Given the description of an element on the screen output the (x, y) to click on. 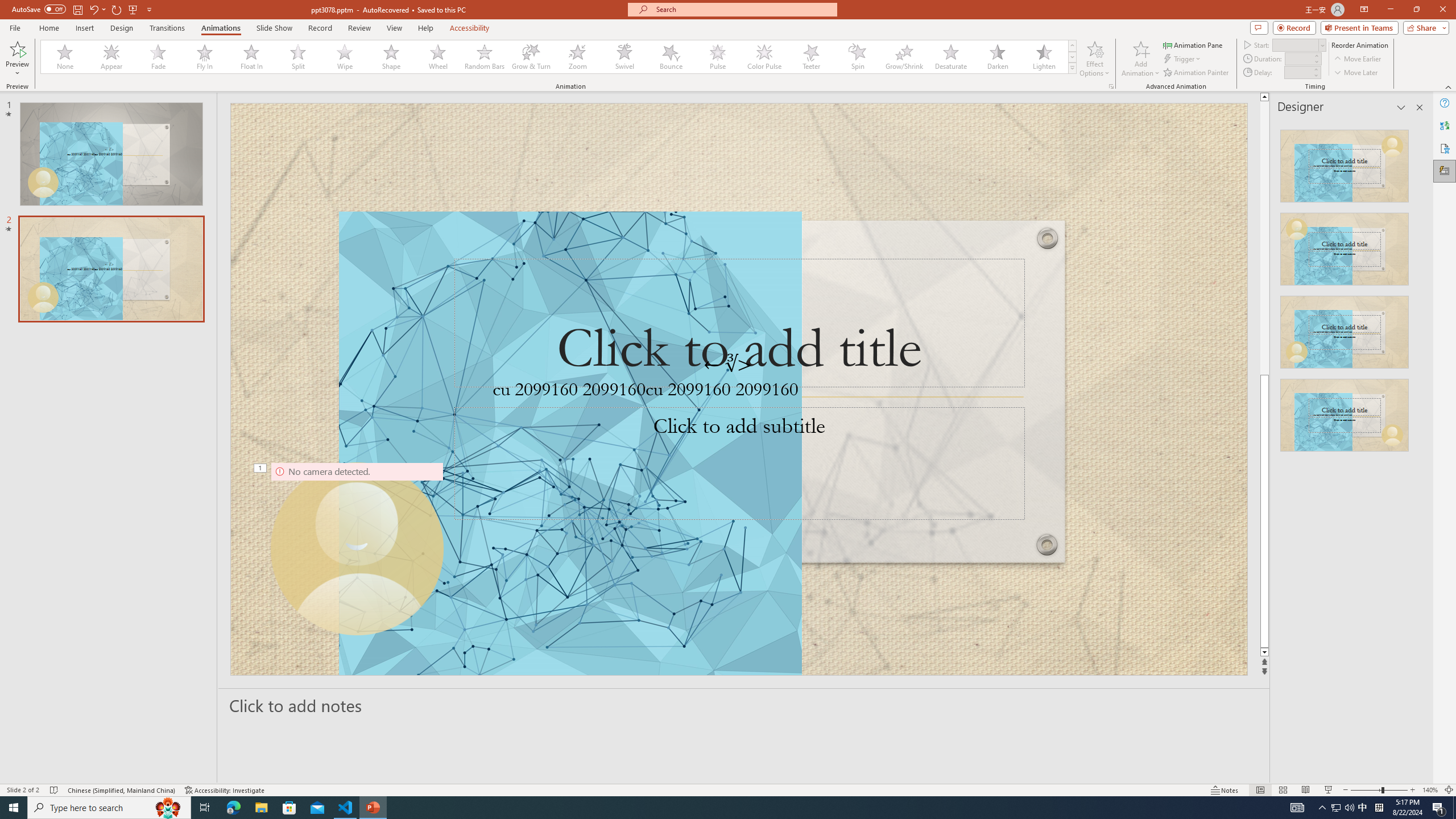
Pulse (717, 56)
Trigger (1182, 58)
